Given the description of an element on the screen output the (x, y) to click on. 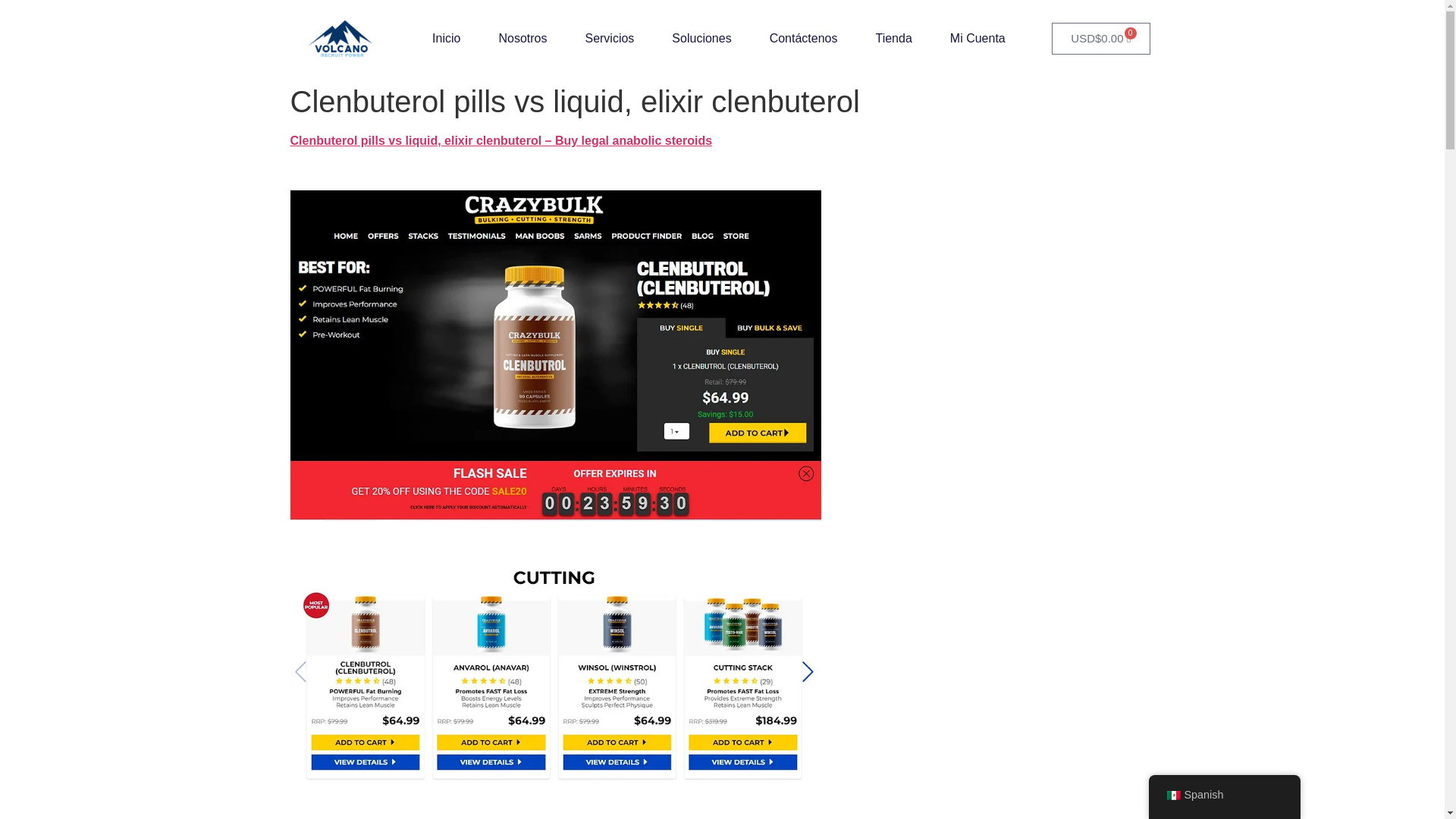
Soluciones (700, 38)
Tienda (893, 38)
Spanish (1172, 795)
Servicios (609, 38)
pills clenbuterol liquid vs (555, 674)
Nosotros (522, 38)
Mi Cuenta (978, 38)
Spanish (1224, 795)
